Given the description of an element on the screen output the (x, y) to click on. 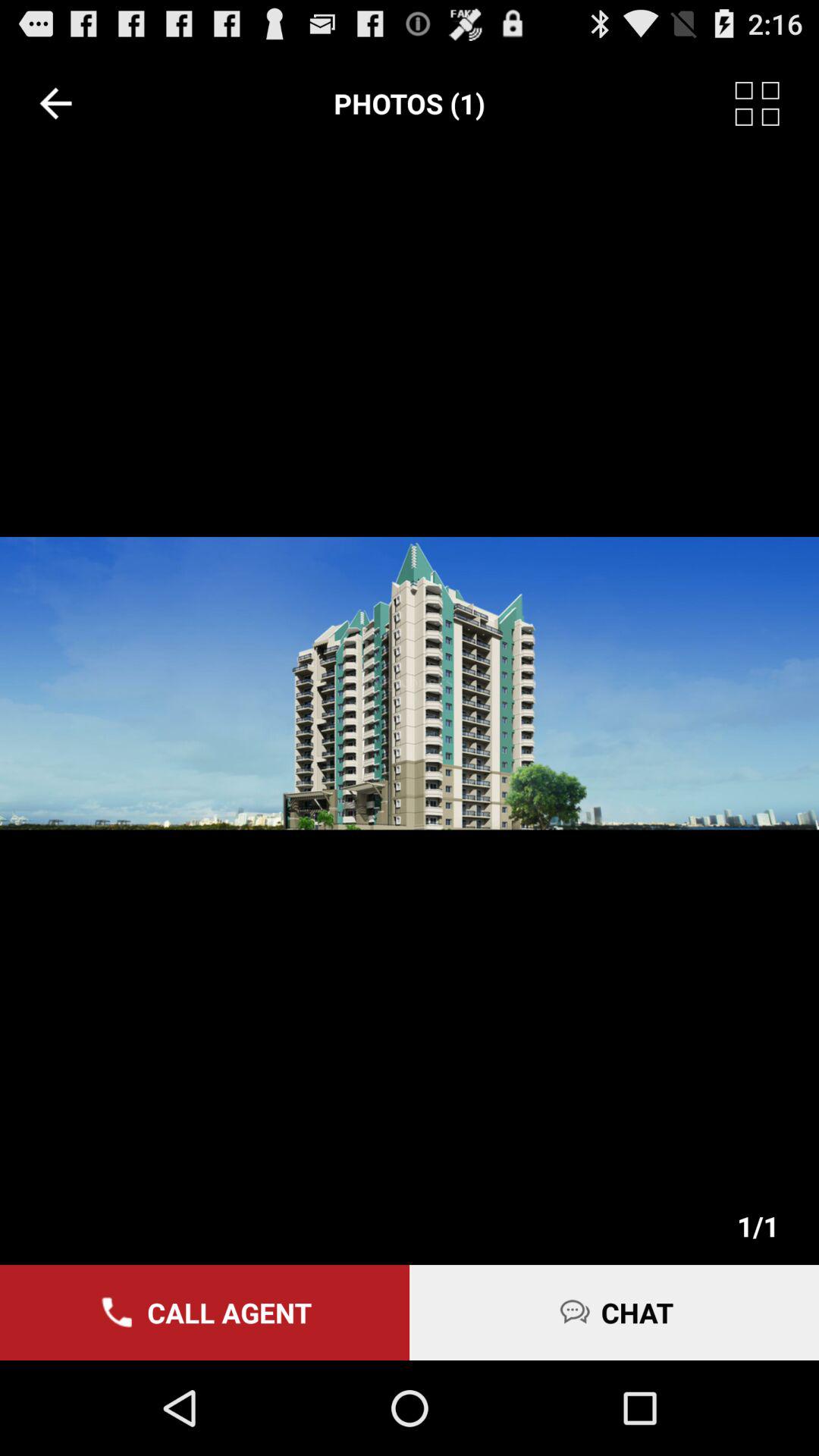
go full screen (777, 103)
